Given the description of an element on the screen output the (x, y) to click on. 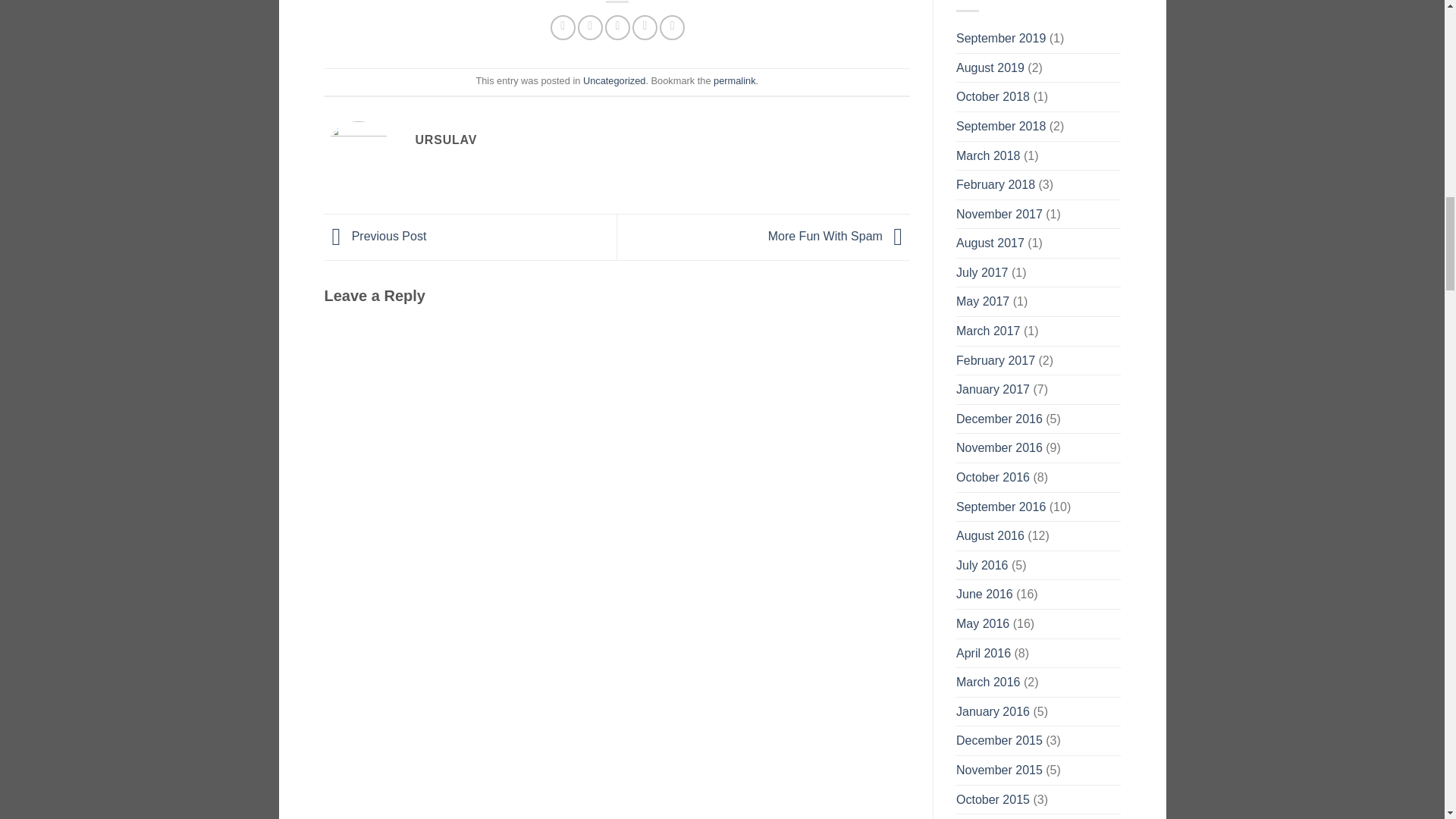
Share on Facebook (562, 27)
Previous Post (375, 236)
Permalink to The Curse of Labyrinth (734, 80)
Pin on Pinterest (644, 27)
Share on LinkedIn (671, 27)
Uncategorized (614, 80)
Share on Twitter (590, 27)
Email to a Friend (617, 27)
permalink (734, 80)
